Given the description of an element on the screen output the (x, y) to click on. 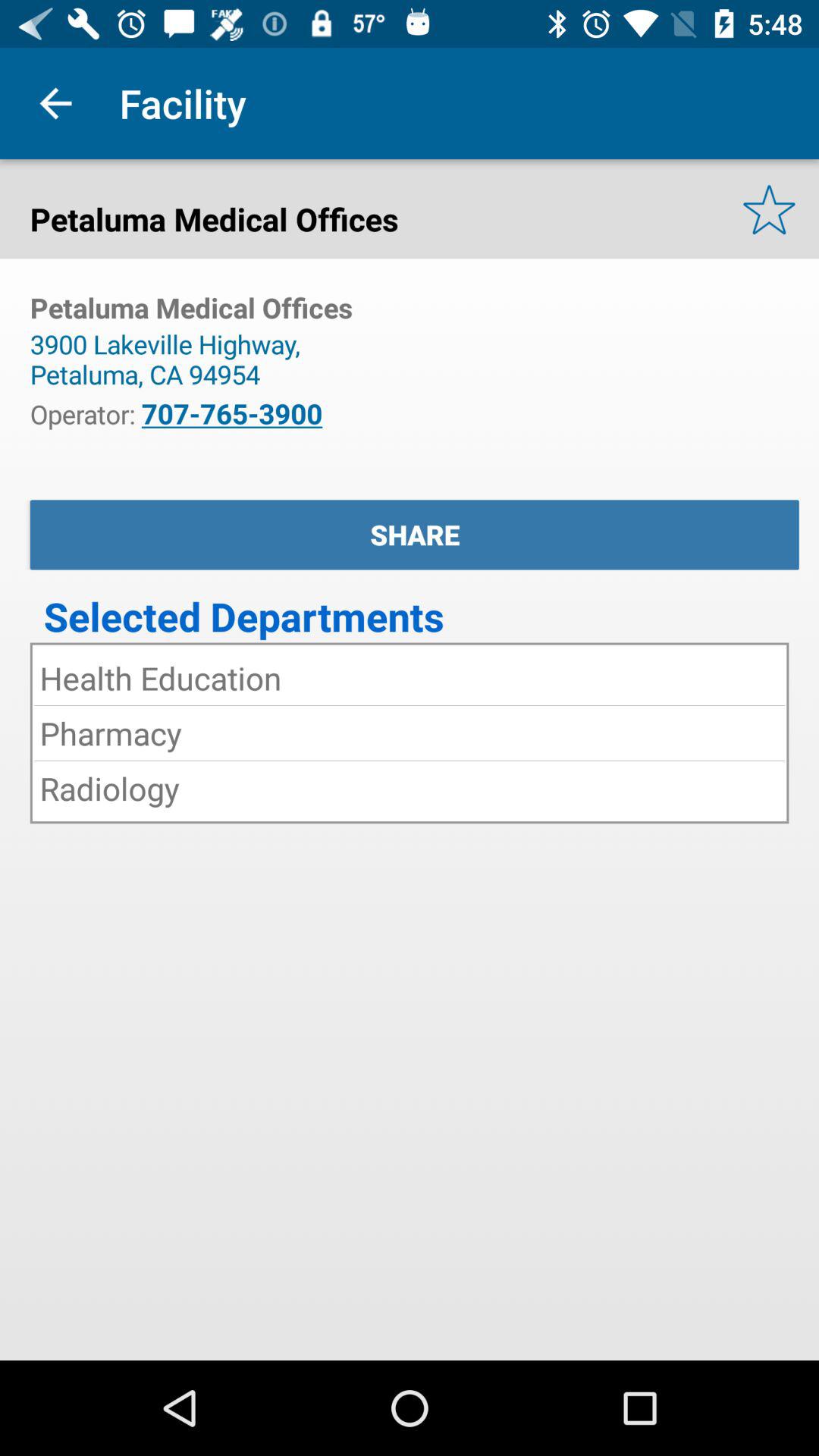
click icon next to the petaluma medical offices icon (769, 208)
